Given the description of an element on the screen output the (x, y) to click on. 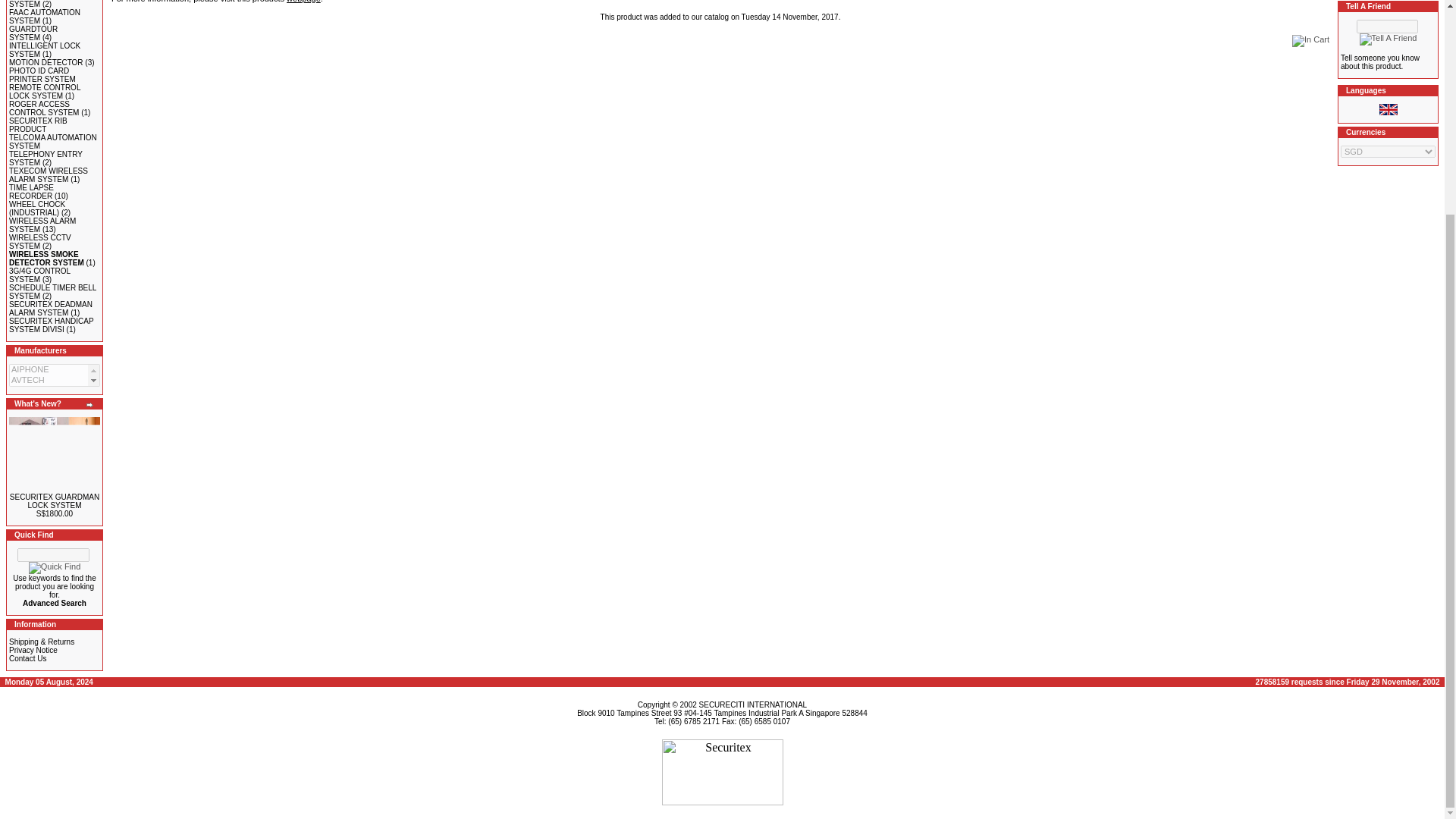
INTELLIGENT LOCK SYSTEM (44, 49)
 Tell A Friend  (1387, 39)
 SECURITEX GUARDMAN LOCK SYSTEM  (54, 454)
REMOTE CONTROL LOCK SYSTEM (44, 91)
PHOTO ID CARD PRINTER SYSTEM (41, 74)
TEXECOM WIRELESS ALARM SYSTEM (47, 175)
 more  (89, 404)
TELCOMA AUTOMATION SYSTEM (52, 141)
FAAC AUTOMATION SYSTEM (44, 16)
WIRELESS ALARM SYSTEM (41, 225)
ROGER ACCESS CONTROL SYSTEM (43, 108)
 Securitex  (722, 772)
 In Cart  (1310, 40)
EVERFOCUS CCTV SYSTEM (43, 4)
 Quick Find  (55, 567)
